Given the description of an element on the screen output the (x, y) to click on. 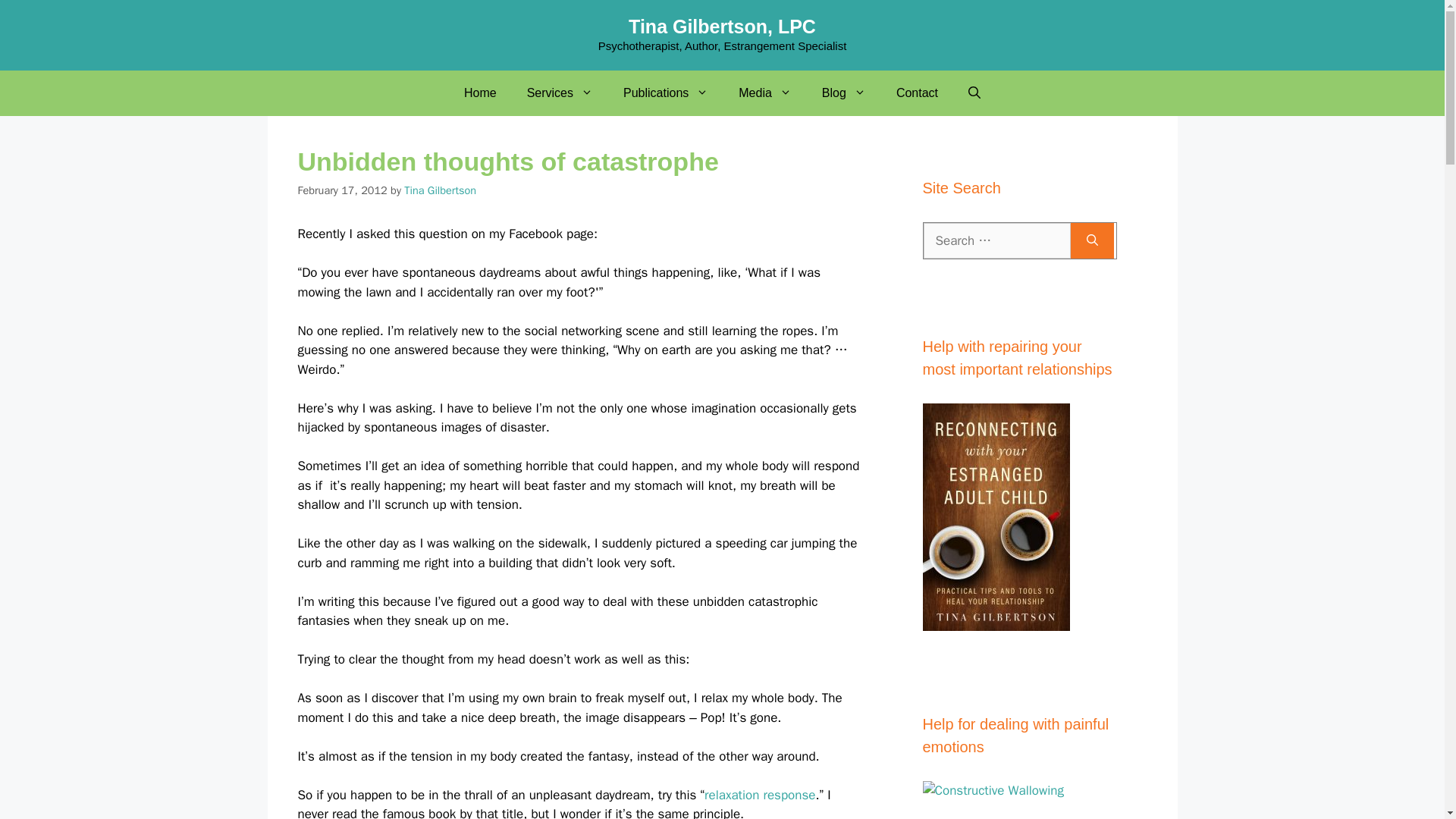
Search for: (996, 240)
View all posts by Tina Gilbertson (440, 190)
Publications (665, 92)
Contact (916, 92)
relaxation response (759, 795)
Media (764, 92)
Services (560, 92)
Home (480, 92)
Tina Gilbertson (440, 190)
Steps to Elicit the Relaxation Response (759, 795)
